Given the description of an element on the screen output the (x, y) to click on. 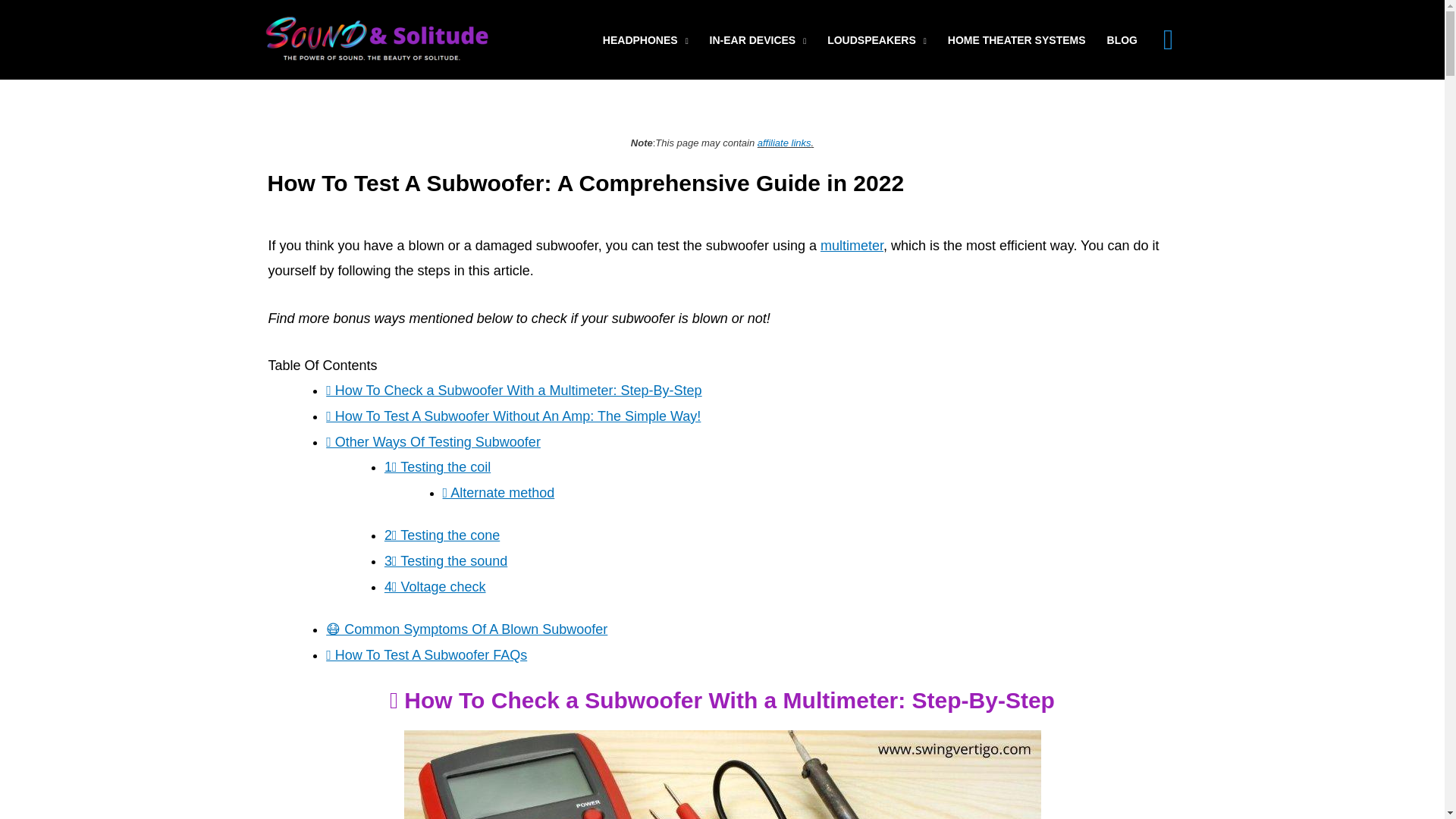
IN-EAR DEVICES (757, 39)
BLOG (1122, 39)
HEADPHONES (645, 39)
How To Test A Subwoofer: A Comprehensive Guide in 2022 (722, 774)
LOUDSPEAKERS (876, 39)
multimeter (852, 245)
affiliate links (783, 142)
HOME THEATER SYSTEMS (1016, 39)
